Given the description of an element on the screen output the (x, y) to click on. 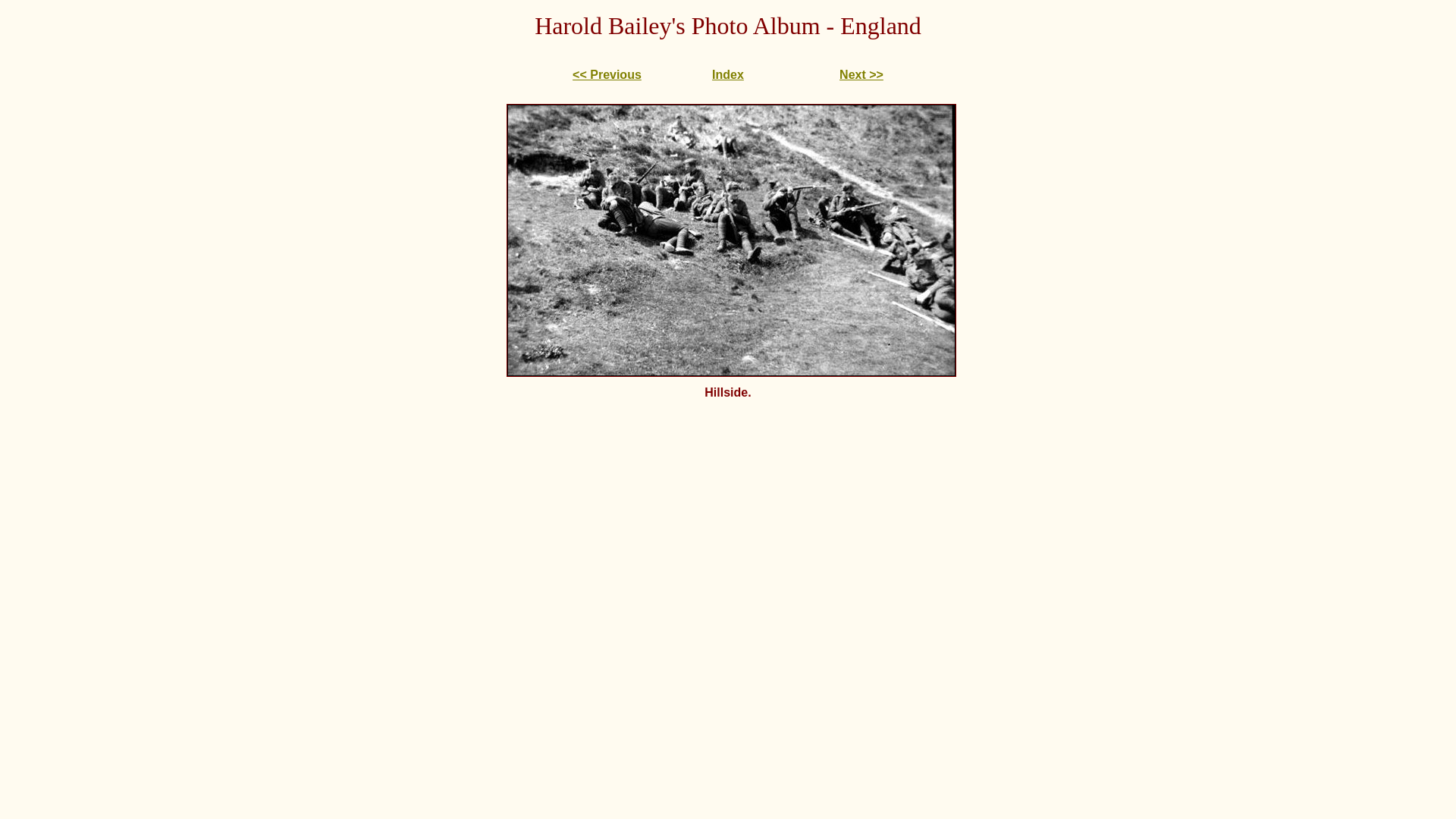
<< Previous Element type: text (606, 74)
Index Element type: text (727, 74)
Next >> Element type: text (861, 74)
44 Element type: hover (731, 239)
